Given the description of an element on the screen output the (x, y) to click on. 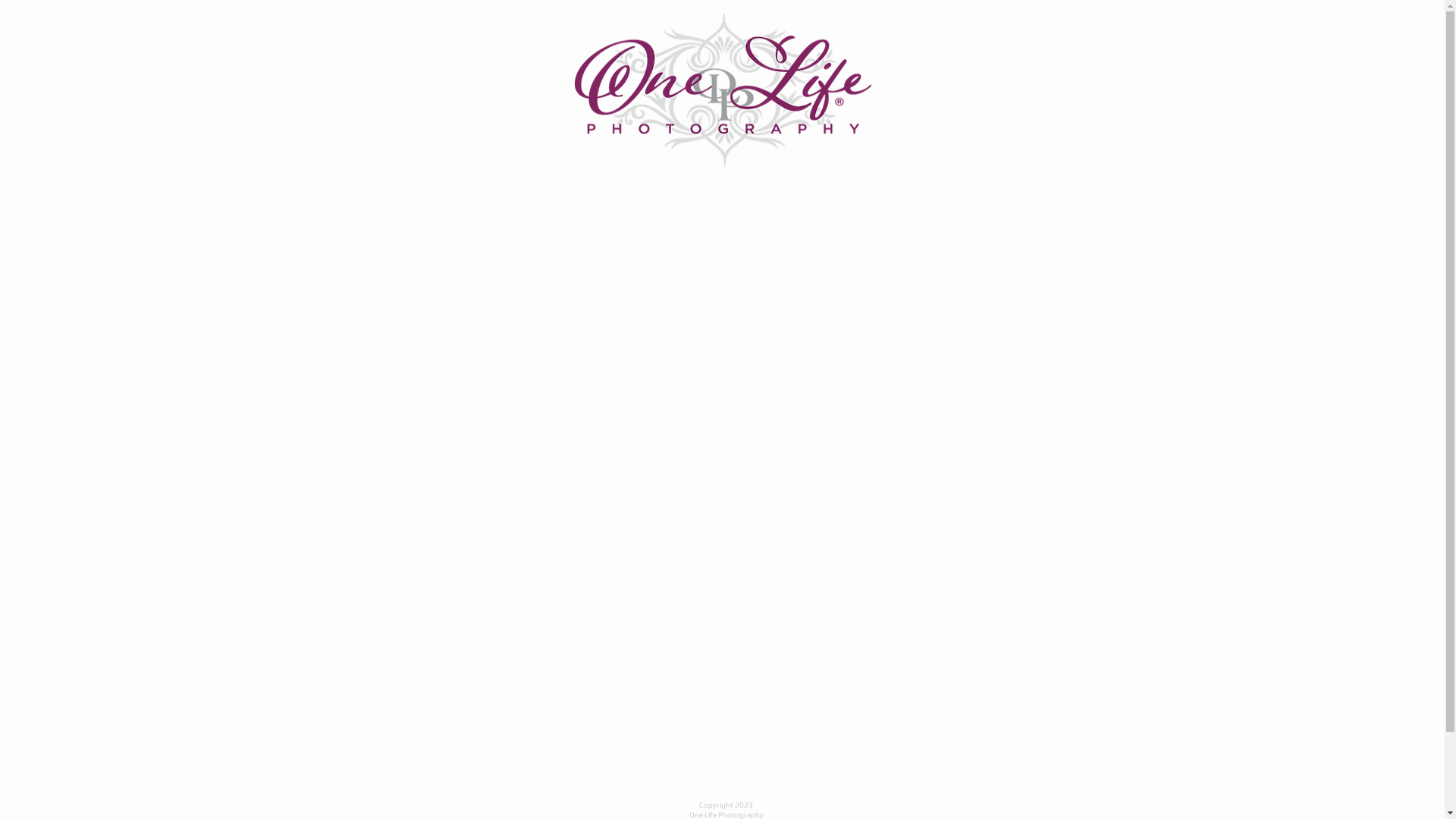
One Life Photography Registered Trademark Element type: hover (722, 89)
